Given the description of an element on the screen output the (x, y) to click on. 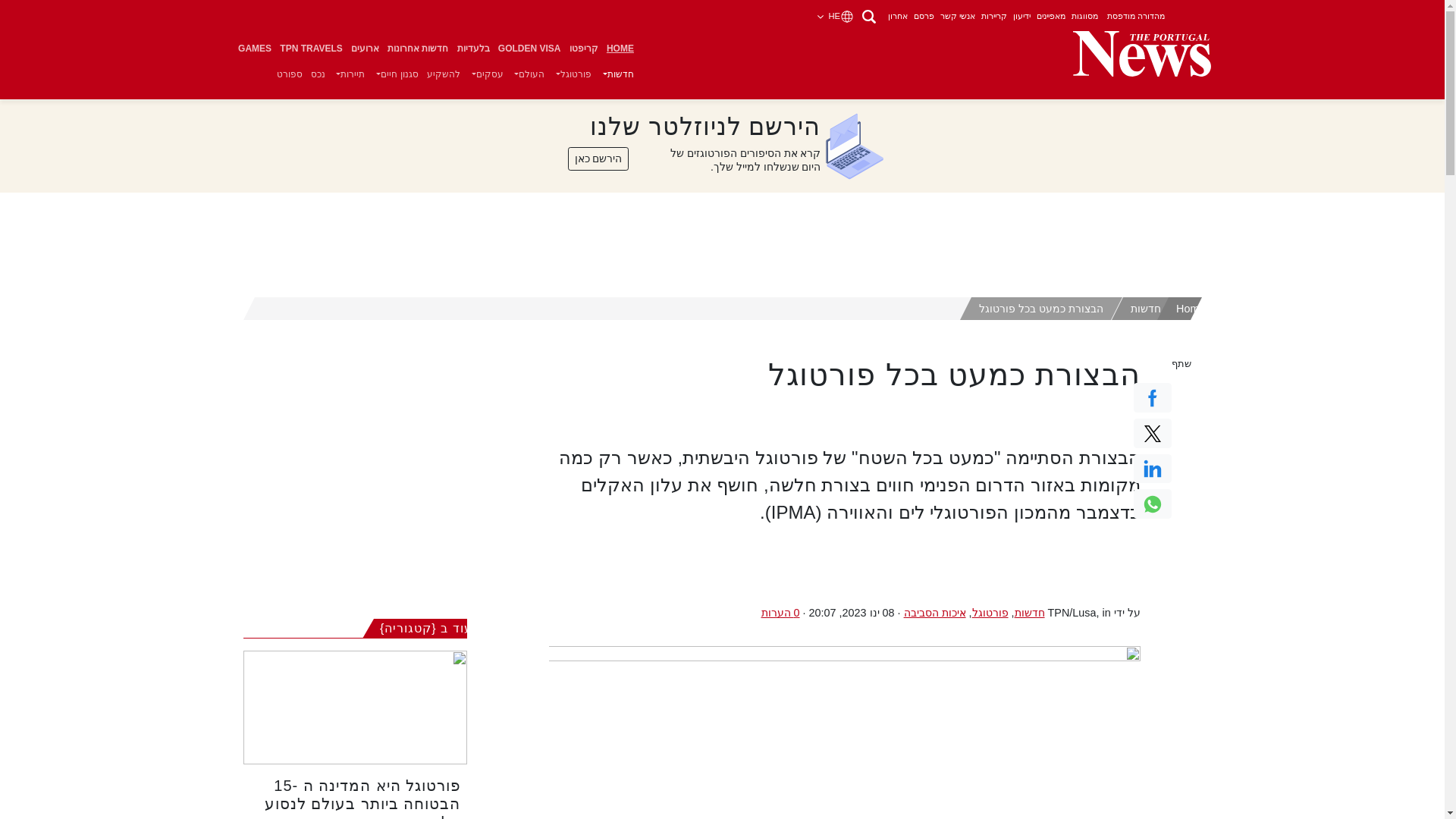
GAMES (253, 48)
GOLDEN VISA (528, 48)
TPN TRAVELS (311, 48)
HOME (619, 48)
HE (836, 15)
